Given the description of an element on the screen output the (x, y) to click on. 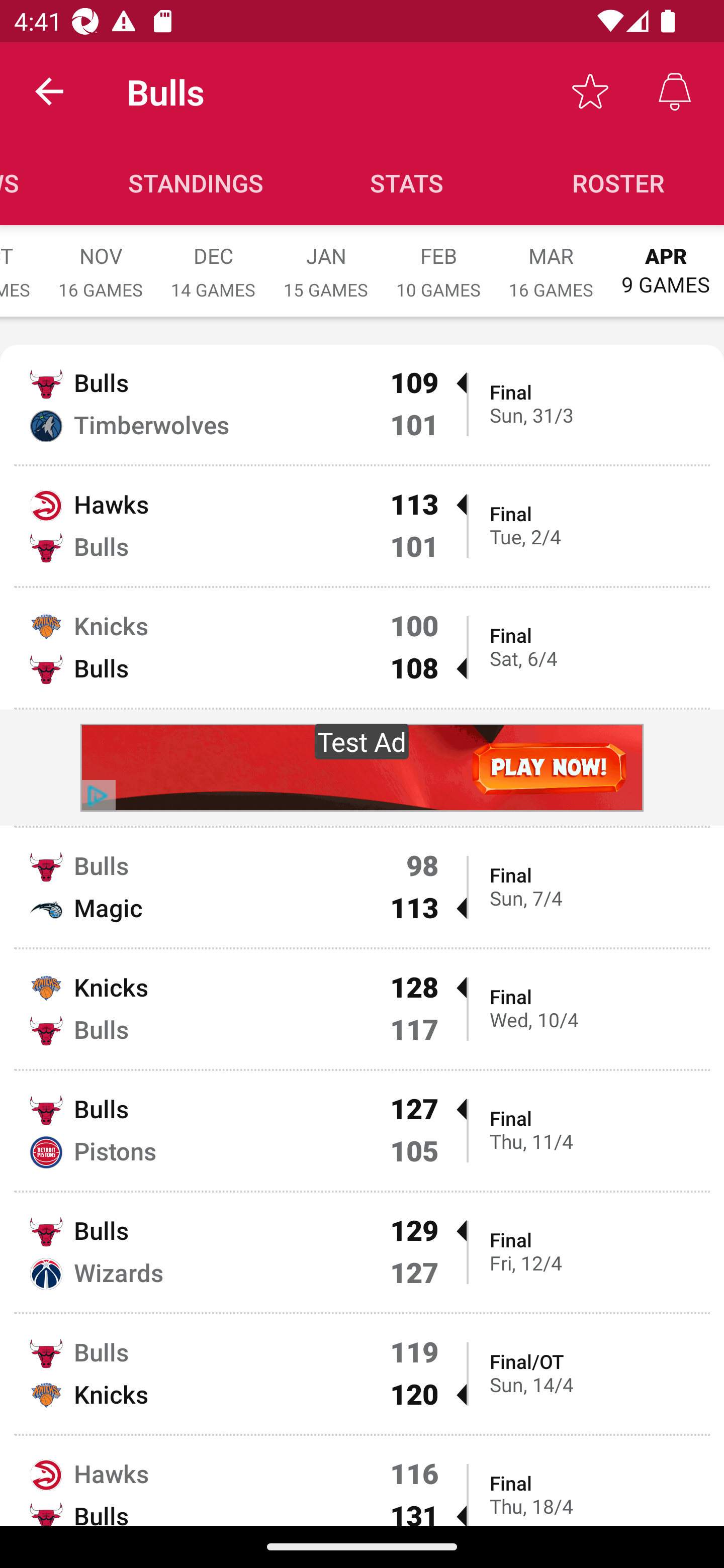
back.button (49, 90)
Favorite toggle (590, 90)
Alerts (674, 90)
Standings STANDINGS (195, 183)
Stats STATS (406, 183)
Roster ROSTER (618, 183)
NOV 16 GAMES (100, 262)
DEC 14 GAMES (213, 262)
JAN 15 GAMES (325, 262)
FEB 10 GAMES (438, 262)
MAR 16 GAMES (550, 262)
APR 9 GAMES (665, 261)
Bulls 109  Timberwolves 101 Final Sun, 31/3 (362, 404)
Hawks 113  Bulls 101 Final Tue, 2/4 (362, 525)
Knicks 100 Bulls 108  Final Sat, 6/4 (362, 647)
Bulls 98 Magic 113  Final Sun, 7/4 (362, 887)
Knicks 128  Bulls 117 Final Wed, 10/4 (362, 1008)
Bulls 127  Pistons 105 Final Thu, 11/4 (362, 1130)
Bulls 129  Wizards 127 Final Fri, 12/4 (362, 1252)
Bulls 119 Knicks 120  Final/OT Sun, 14/4 (362, 1373)
Hawks 116 Bulls 131  Final Thu, 18/4 (362, 1480)
